Given the description of an element on the screen output the (x, y) to click on. 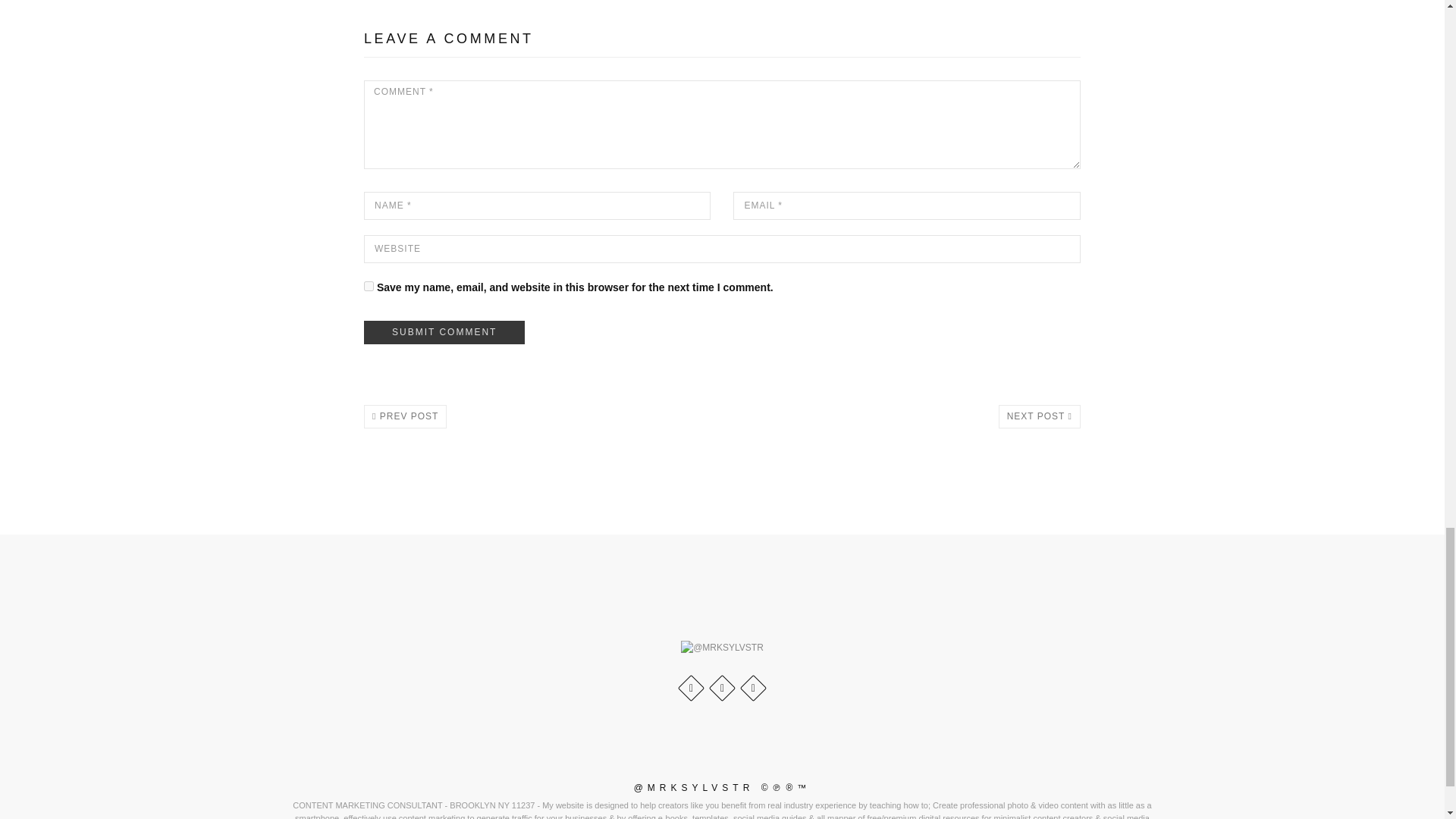
Submit Comment (444, 332)
 PREV POST (405, 416)
yes (369, 285)
NEXT POST  (1039, 416)
Submit Comment (444, 332)
